Given the description of an element on the screen output the (x, y) to click on. 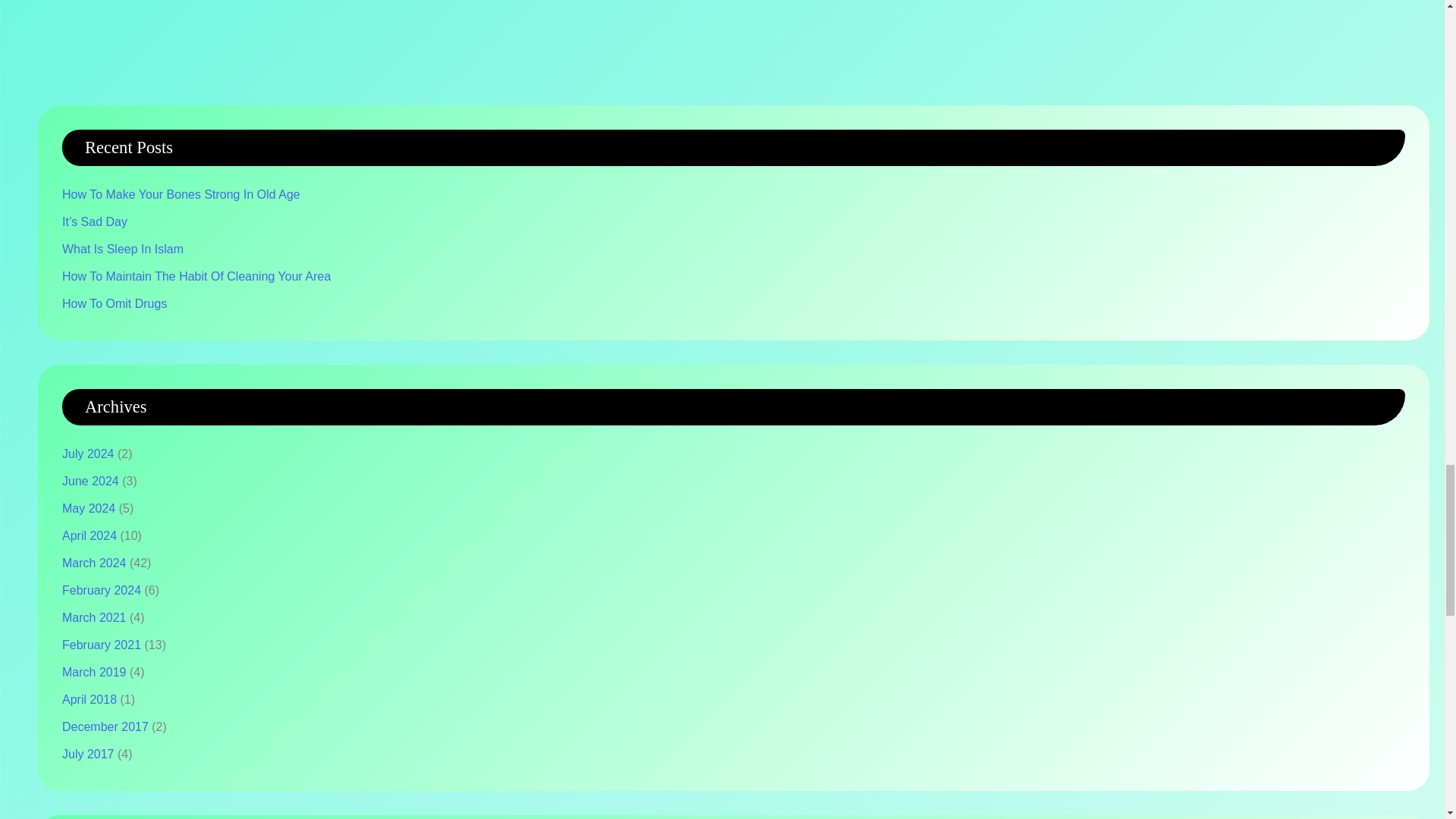
May 2024 (88, 508)
July 2024 (88, 453)
How To Maintain The Habit Of Cleaning Your Area (196, 276)
March 2024 (94, 562)
How To Omit Drugs (114, 303)
What Is Sleep In Islam (122, 248)
June 2024 (90, 481)
April 2024 (89, 535)
February 2024 (101, 590)
How To Make Your Bones Strong In Old Age (180, 194)
